Given the description of an element on the screen output the (x, y) to click on. 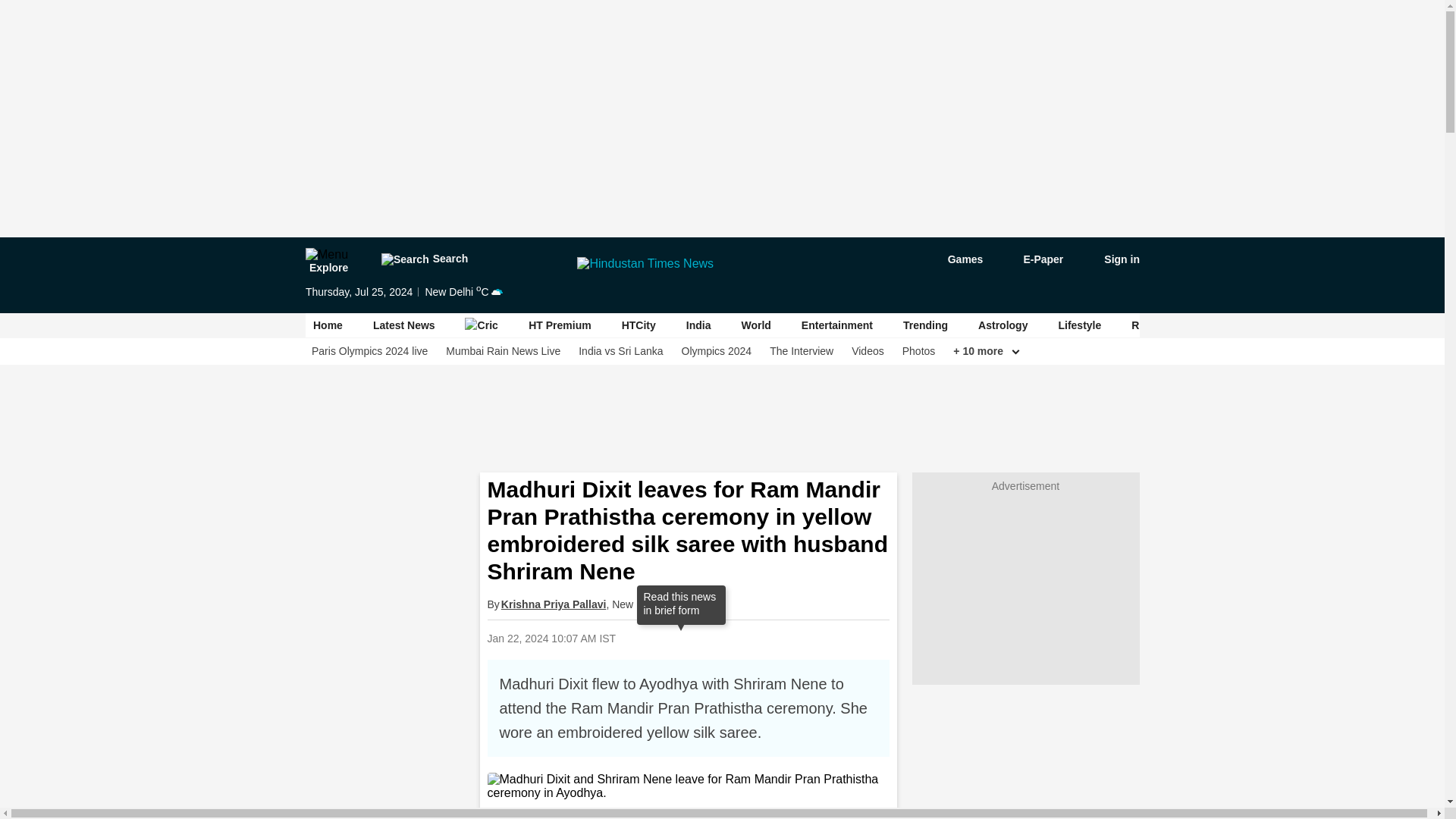
India vs Sri Lanka (620, 350)
Education (1243, 325)
epaper (1034, 258)
HT Premium (559, 325)
Latest News (402, 325)
Lifestyle (1079, 325)
Real Estate (1159, 325)
World (755, 325)
Entertainment (836, 325)
Photos (917, 350)
Cities (1314, 325)
Share on Twitter (749, 637)
Olympics 2024 (716, 350)
game (954, 258)
